Given the description of an element on the screen output the (x, y) to click on. 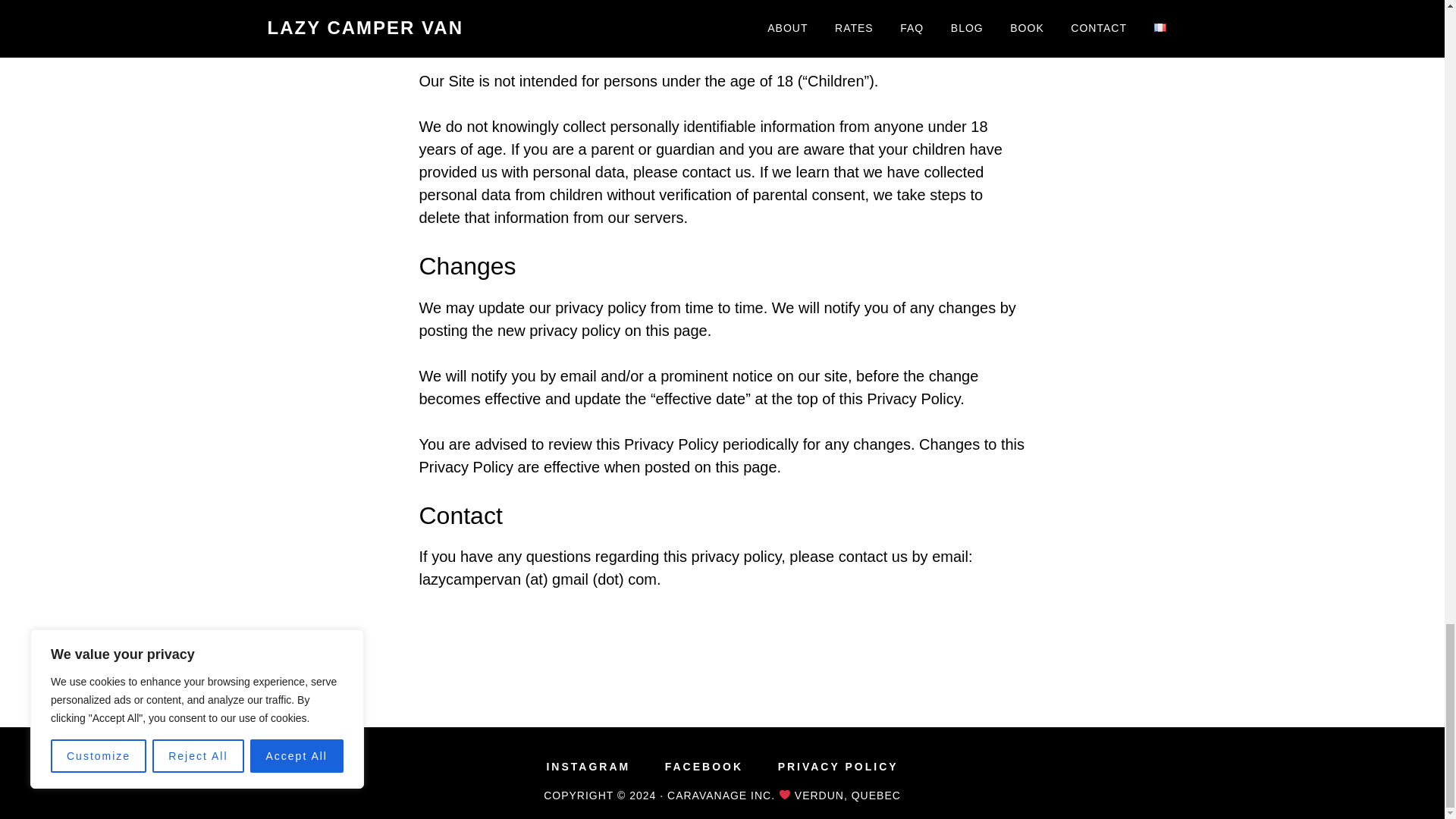
INSTAGRAM (588, 766)
PRIVACY POLICY (837, 766)
FACEBOOK (703, 766)
